Given the description of an element on the screen output the (x, y) to click on. 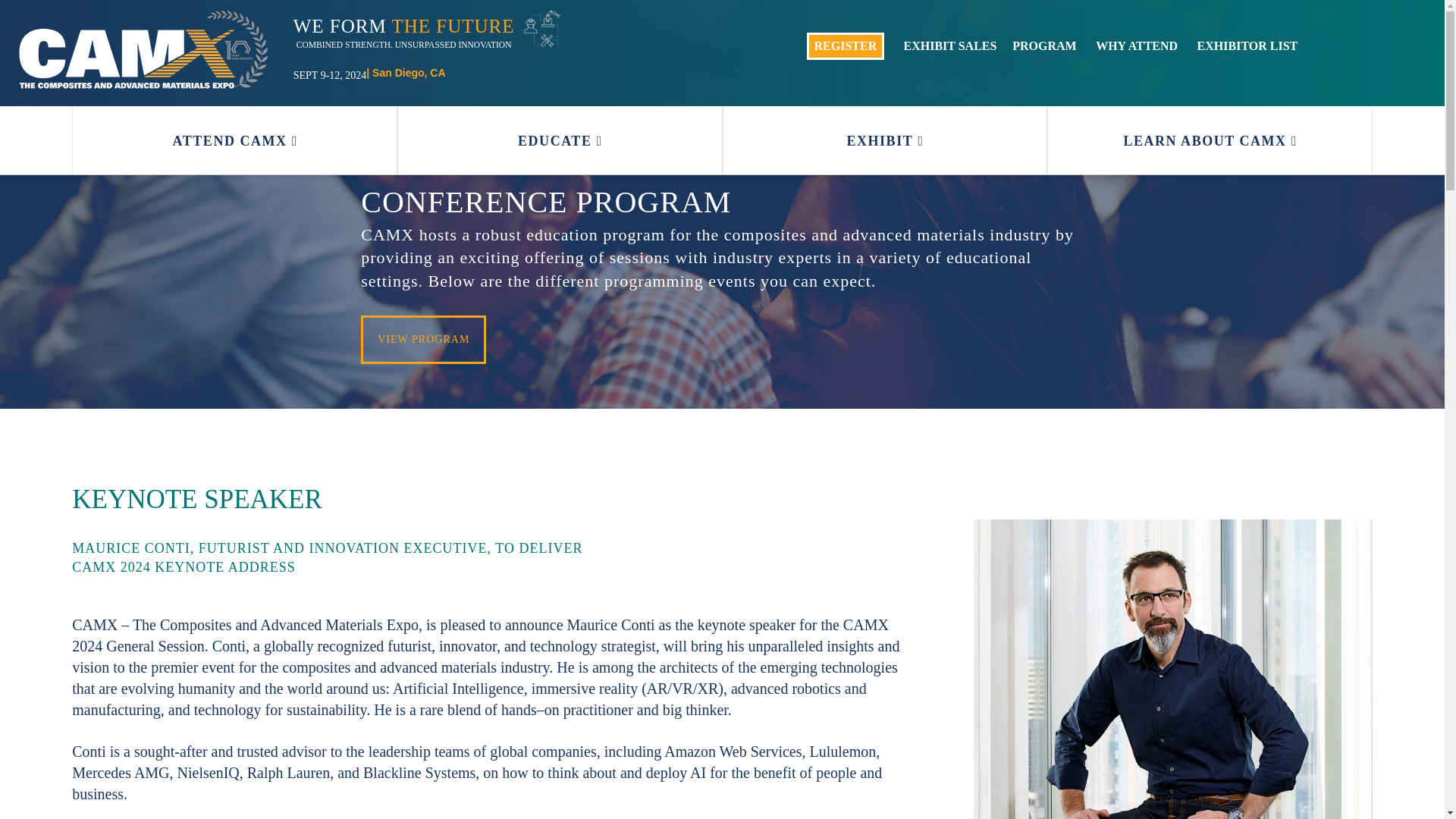
EXHIBITOR LIST (1247, 45)
WHY ATTEND (1136, 45)
REGISTER (845, 45)
PROGRAM (1043, 45)
EXHIBIT SALES (950, 45)
EXHIBIT (884, 140)
EDUCATE (559, 140)
ATTEND CAMX (234, 140)
LEARN ABOUT CAMX (1209, 140)
